Given the description of an element on the screen output the (x, y) to click on. 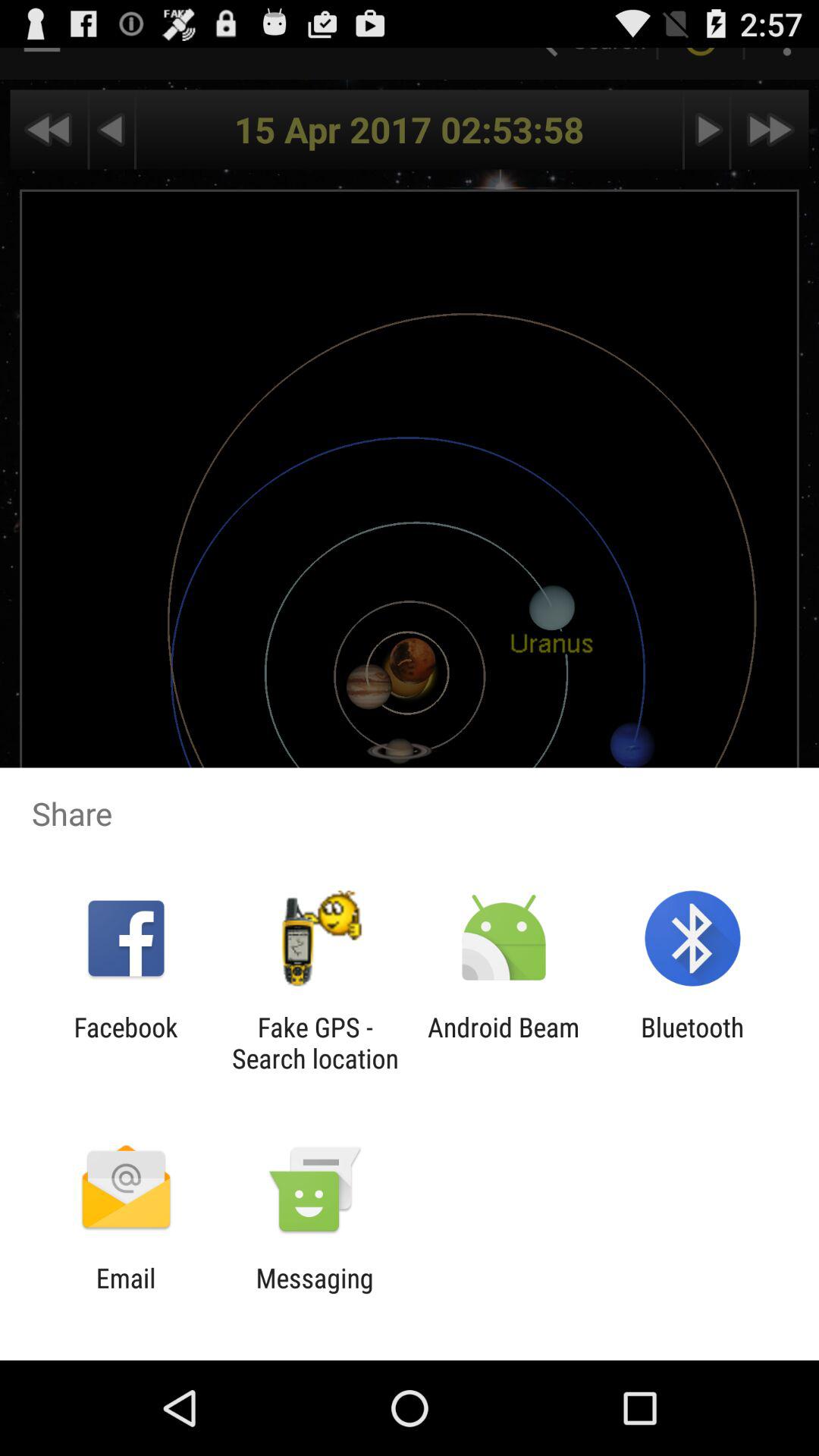
scroll to the fake gps search item (314, 1042)
